Given the description of an element on the screen output the (x, y) to click on. 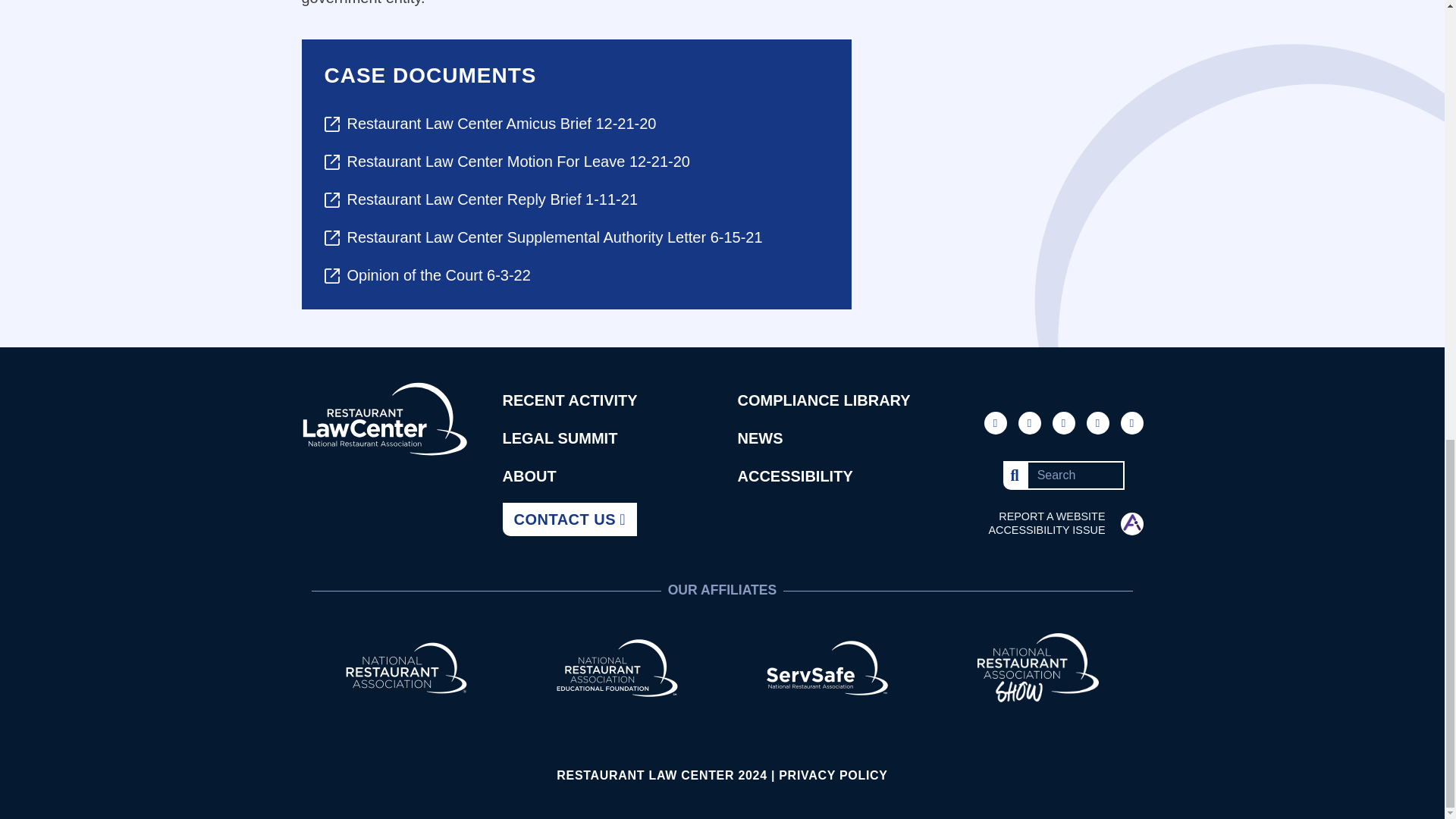
RECENT ACTIVITY (569, 400)
Restaurant Law Center Supplemental Authority Letter 6-15-21 (576, 237)
National Restaurant Association (406, 666)
National Restaurant Association Educational Foundation (617, 666)
ServSafe (827, 666)
LEGAL SUMMIT (559, 437)
National Restaurant Association Show 2021 (1037, 666)
ACCESSIBILITY (793, 475)
Restaurant Law Center Reply Brief 1-11-21 (576, 199)
Restaurant Law Center Amicus Brief 12-21-20 (576, 123)
ABOUT (529, 475)
Opinion of the Court 6-3-22 (576, 274)
NEWS (759, 437)
COMPLIANCE LIBRARY (823, 400)
Restaurant Law Center Motion For Leave 12-21-20 (576, 160)
